Given the description of an element on the screen output the (x, y) to click on. 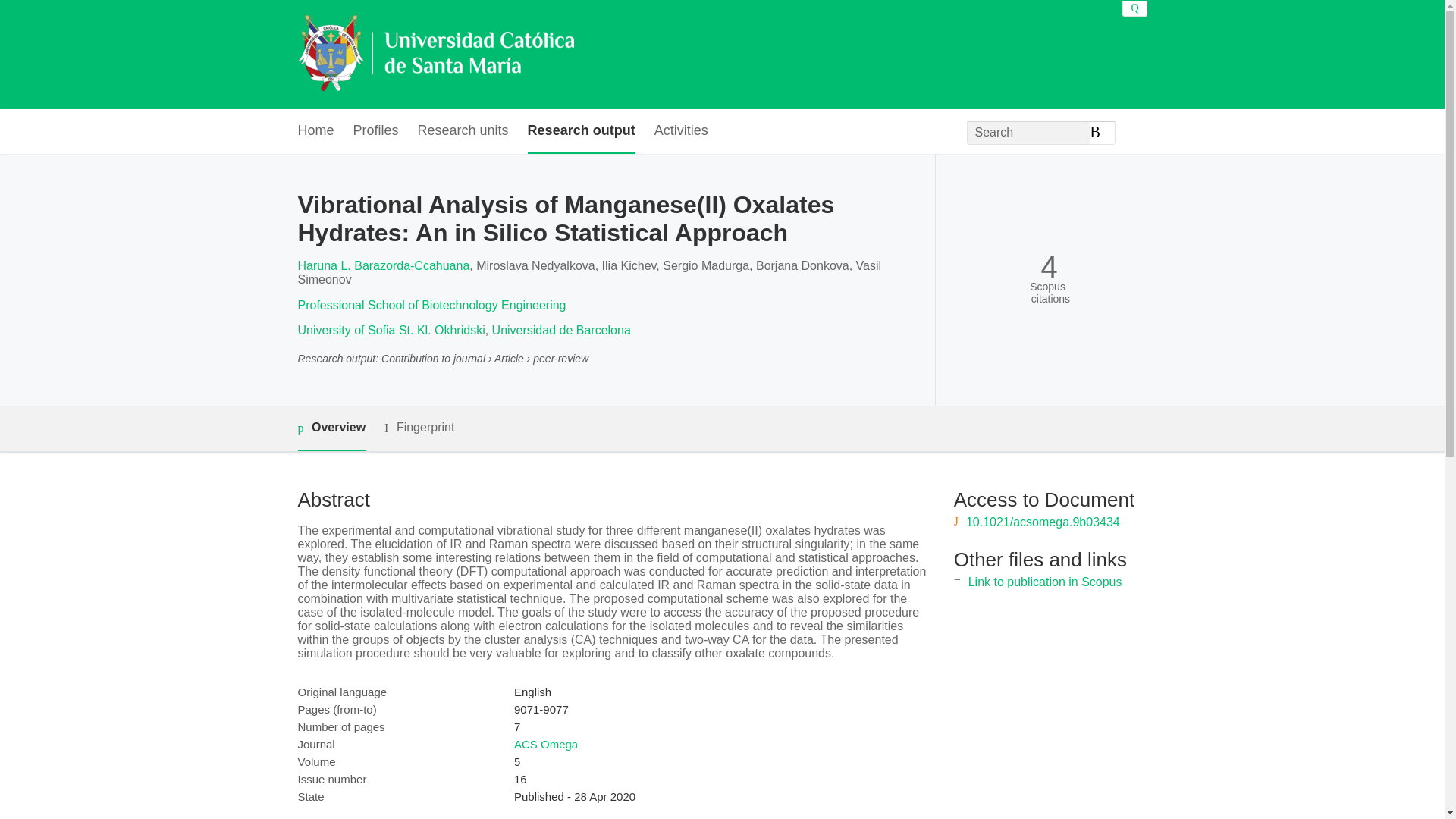
Activities (680, 130)
University of Sofia St. Kl. Okhridski (390, 329)
Profiles (375, 130)
Professional School of Biotechnology Engineering (431, 305)
Overview (331, 428)
Universidad de Barcelona (561, 329)
Research units (462, 130)
Fingerprint (419, 427)
Link to publication in Scopus (1045, 581)
ACS Omega (545, 744)
Haruna L. Barazorda-Ccahuana (382, 265)
Research output (580, 130)
